Given the description of an element on the screen output the (x, y) to click on. 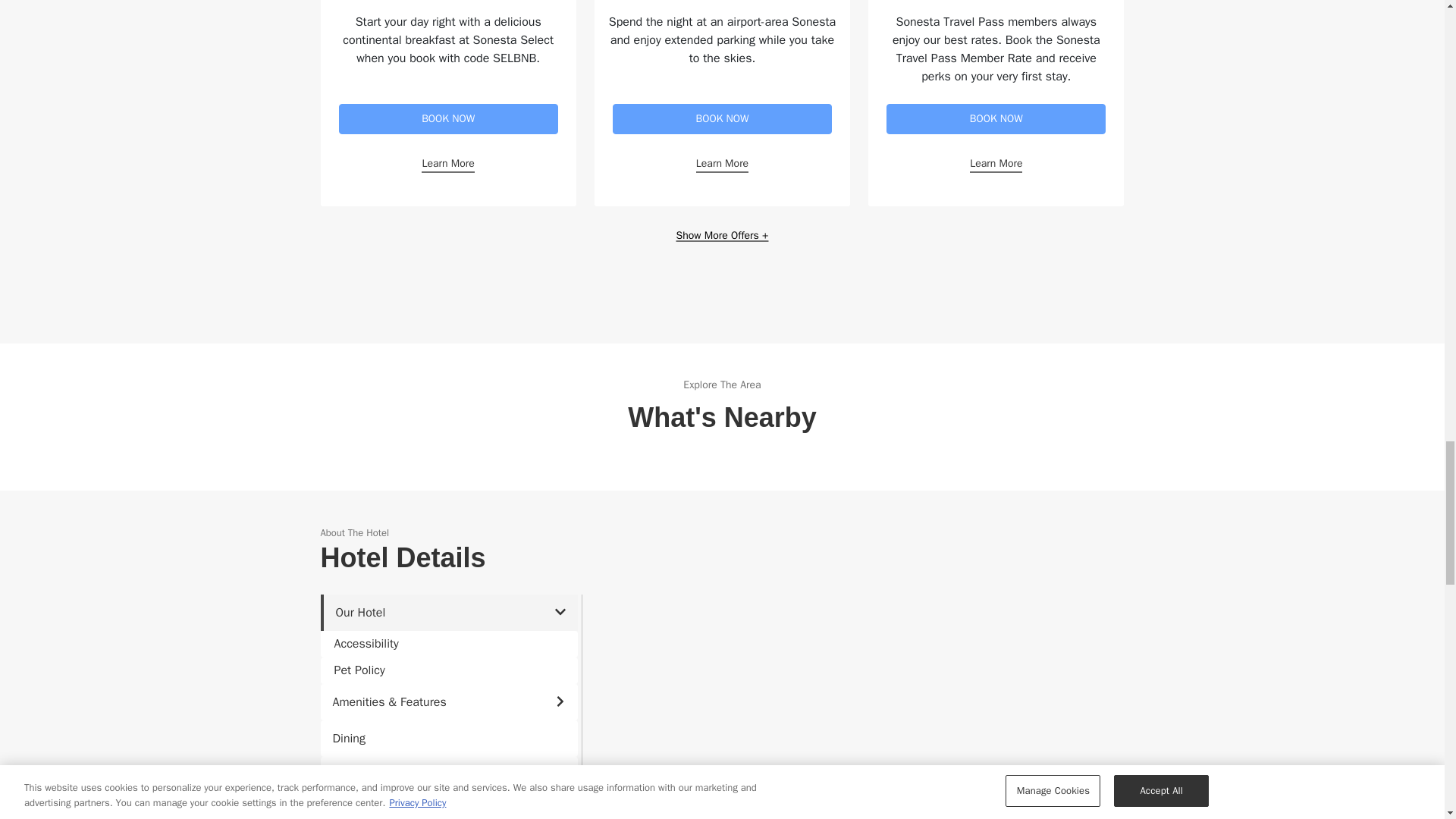
Dining (448, 738)
Our Hotel (448, 612)
BOOK NOW (721, 119)
Learn More (995, 163)
Learn More (721, 163)
Accessibility (448, 643)
Learn More (448, 163)
Pet Policy (448, 670)
BOOK NOW (995, 119)
BOOK NOW (447, 119)
